Given the description of an element on the screen output the (x, y) to click on. 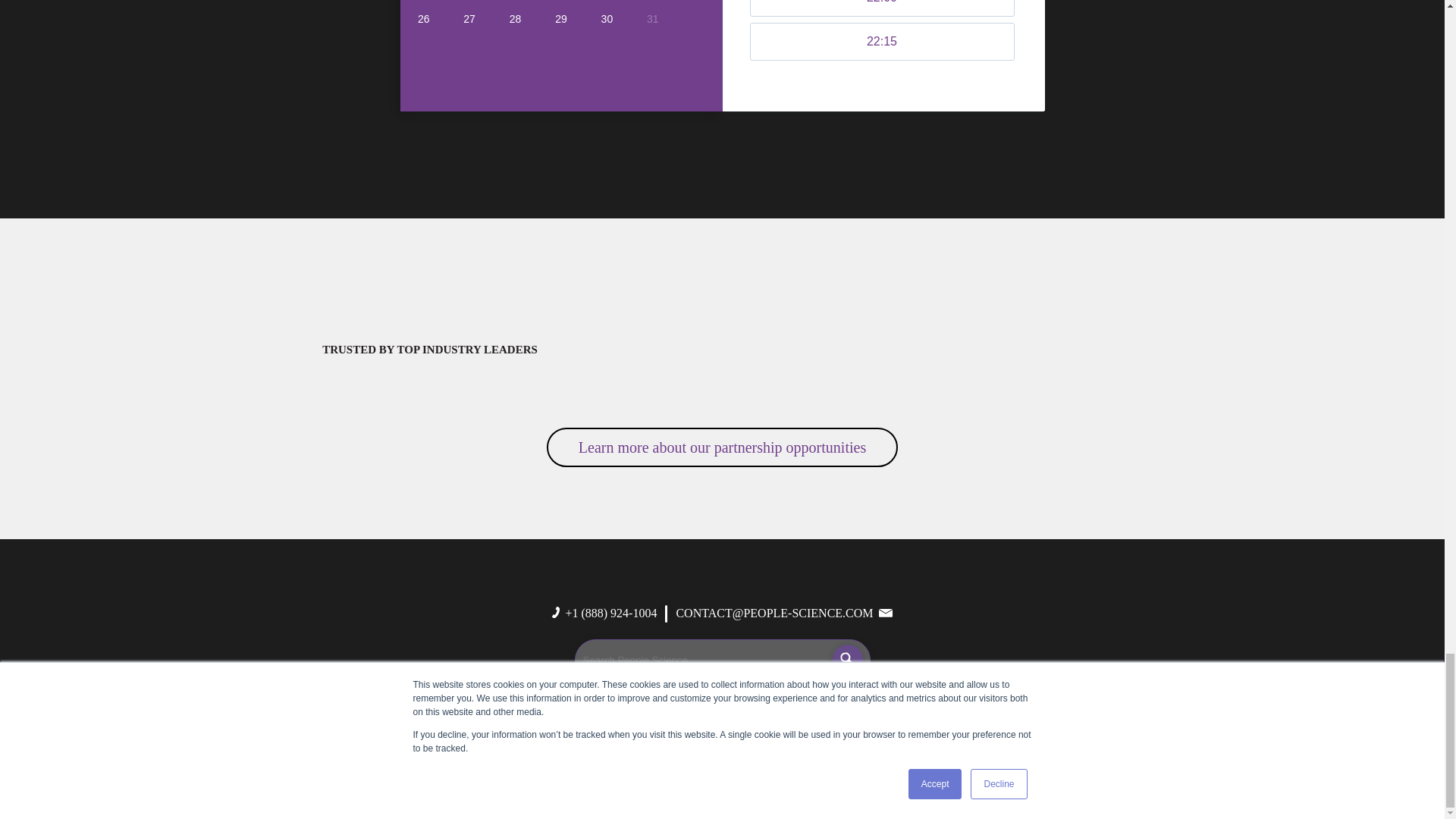
Contact Us by Email (773, 612)
People Science on Facebook (671, 716)
People Science on Youtube (715, 716)
People Science on LinkedIn (633, 716)
